Given the description of an element on the screen output the (x, y) to click on. 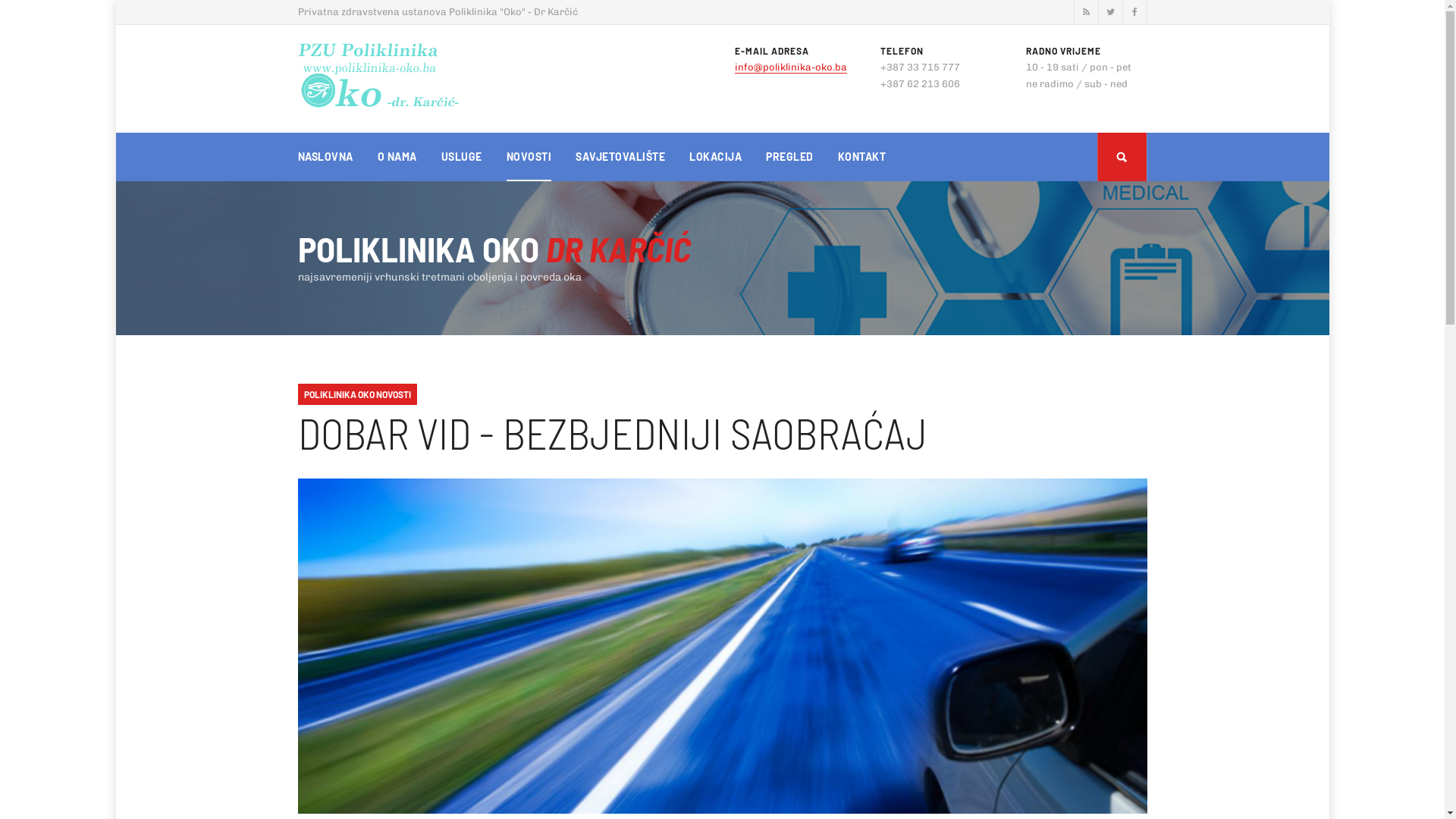
PREGLED Element type: text (789, 156)
twitter Element type: hover (1110, 12)
USLUGE Element type: text (461, 156)
www.poliklinika-oko.ba Element type: hover (379, 75)
NASLOVNA Element type: text (324, 156)
facebook Element type: hover (1134, 12)
LOKACIJA Element type: text (715, 156)
NOVOSTI Element type: text (529, 156)
info@poliklinika-oko.ba Element type: text (790, 67)
O NAMA Element type: text (397, 156)
KONTAKT Element type: text (861, 156)
POLIKLINIKA OKO NOVOSTI Element type: text (356, 393)
rss Element type: hover (1085, 12)
